Given the description of an element on the screen output the (x, y) to click on. 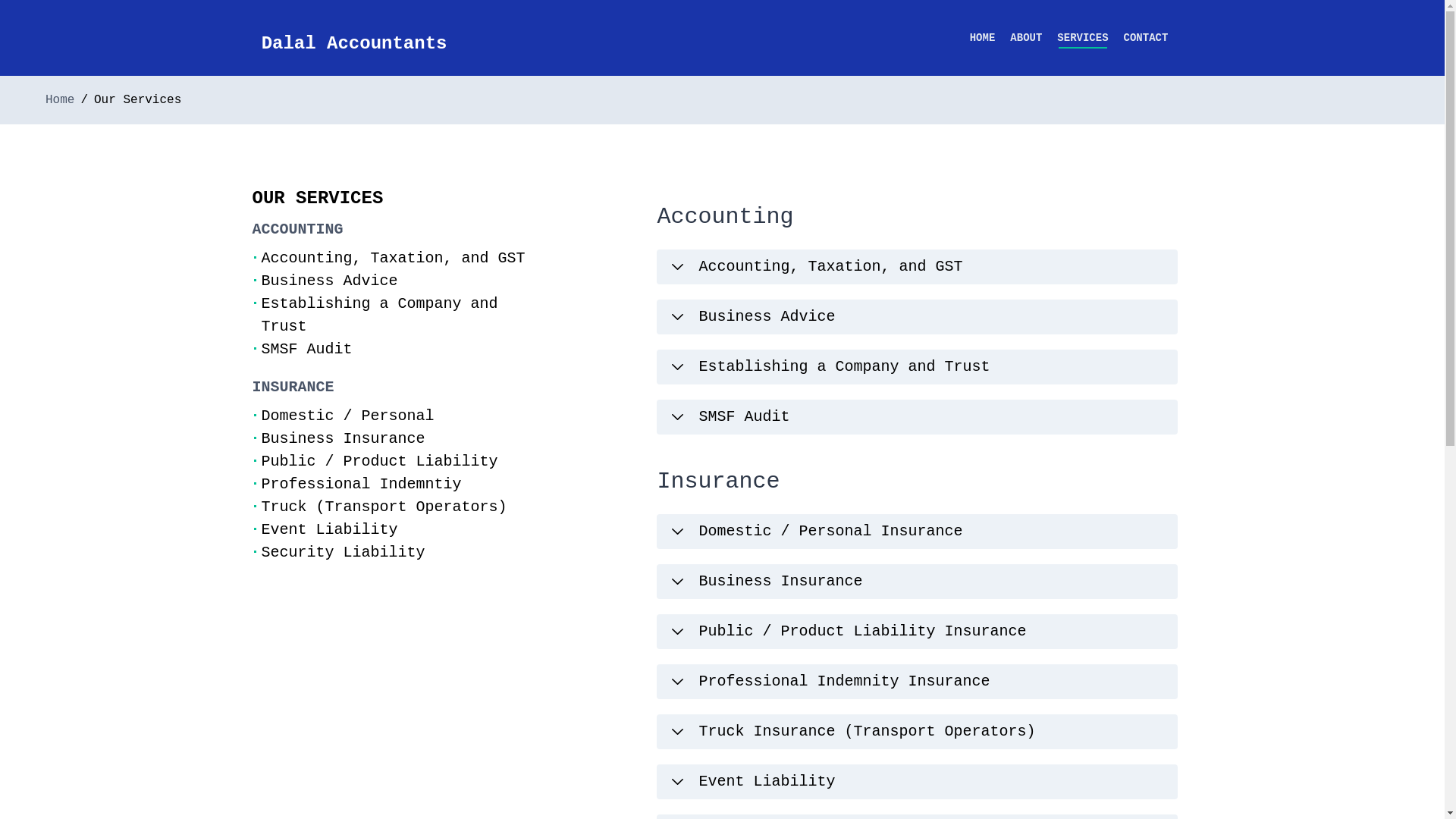
HOME Element type: text (982, 37)
Business Advice Element type: text (916, 316)
Domestic / Personal Element type: text (346, 415)
Business Insurance Element type: text (916, 581)
ABOUT Element type: text (1025, 37)
Truck (Transport Operators) Element type: text (383, 506)
Home Element type: text (59, 100)
Public / Product Liability Element type: text (378, 461)
SERVICES Element type: text (1082, 37)
Public / Product Liability Insurance Element type: text (916, 631)
Professional Indemnity Insurance Element type: text (916, 681)
Professional Indemntiy Element type: text (360, 483)
SMSF Audit Element type: text (916, 416)
CONTACT Element type: text (1145, 37)
Accounting, Taxation, and GST Element type: text (916, 266)
Accounting, Taxation, and GST Element type: text (392, 257)
Truck Insurance (Transport Operators) Element type: text (916, 731)
Event Liability Element type: text (916, 781)
Event Liability Element type: text (328, 529)
Business Advice Element type: text (328, 280)
Domestic / Personal Insurance Element type: text (916, 531)
Establishing a Company and Trust Element type: text (916, 366)
SMSF Audit Element type: text (305, 348)
Our Services Element type: text (137, 100)
Business Insurance Element type: text (342, 438)
Dalal Accountants Element type: text (354, 43)
Security Liability Element type: text (342, 552)
Establishing a Company and Trust Element type: text (378, 314)
